Given the description of an element on the screen output the (x, y) to click on. 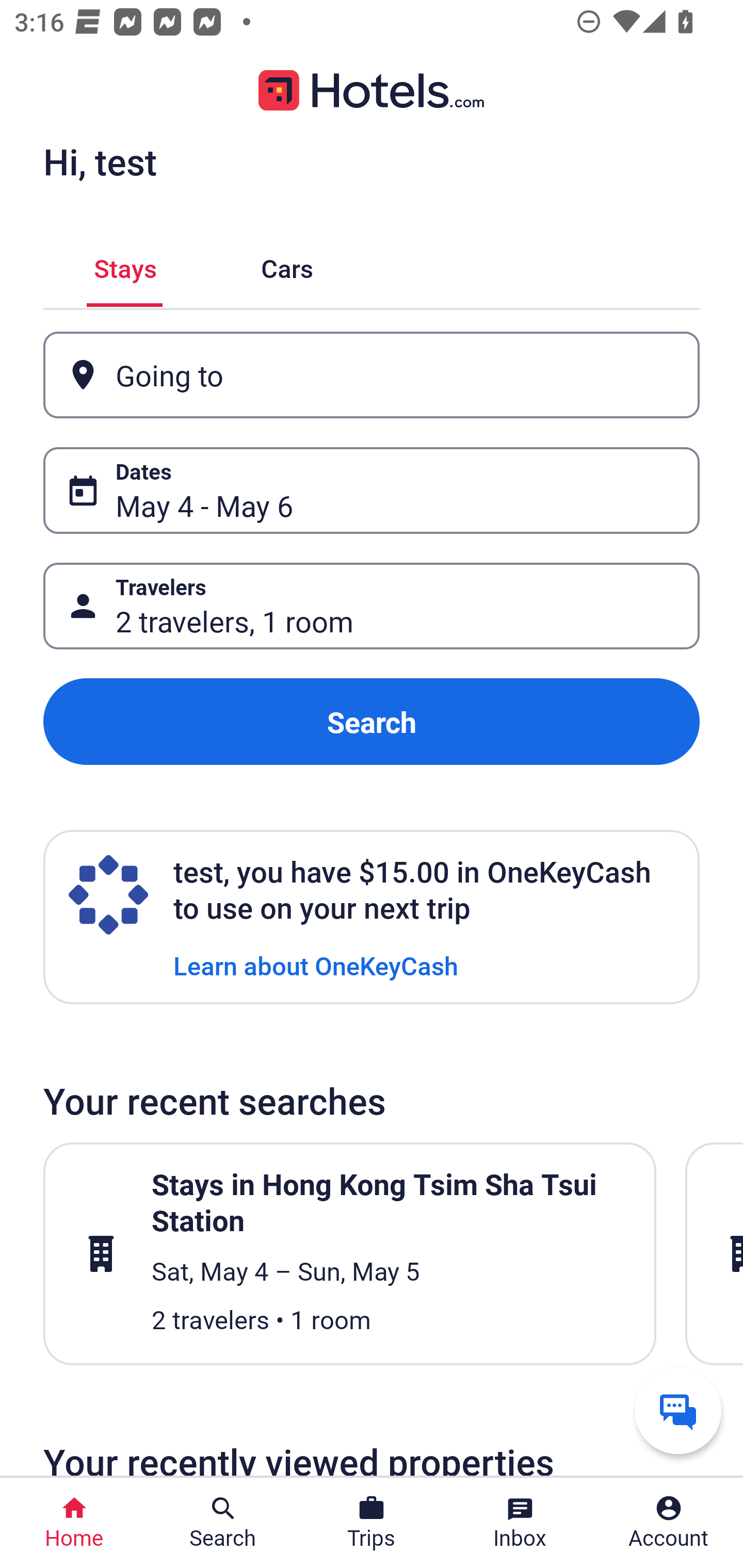
Hi, test (99, 161)
Cars (286, 265)
Going to Button (371, 375)
Dates Button May 4 - May 6 (371, 489)
Travelers Button 2 travelers, 1 room (371, 605)
Search (371, 721)
Learn about OneKeyCash Learn about OneKeyCash Link (315, 964)
Get help from a virtual agent (677, 1410)
Search Search Button (222, 1522)
Trips Trips Button (371, 1522)
Inbox Inbox Button (519, 1522)
Account Profile. Button (668, 1522)
